Given the description of an element on the screen output the (x, y) to click on. 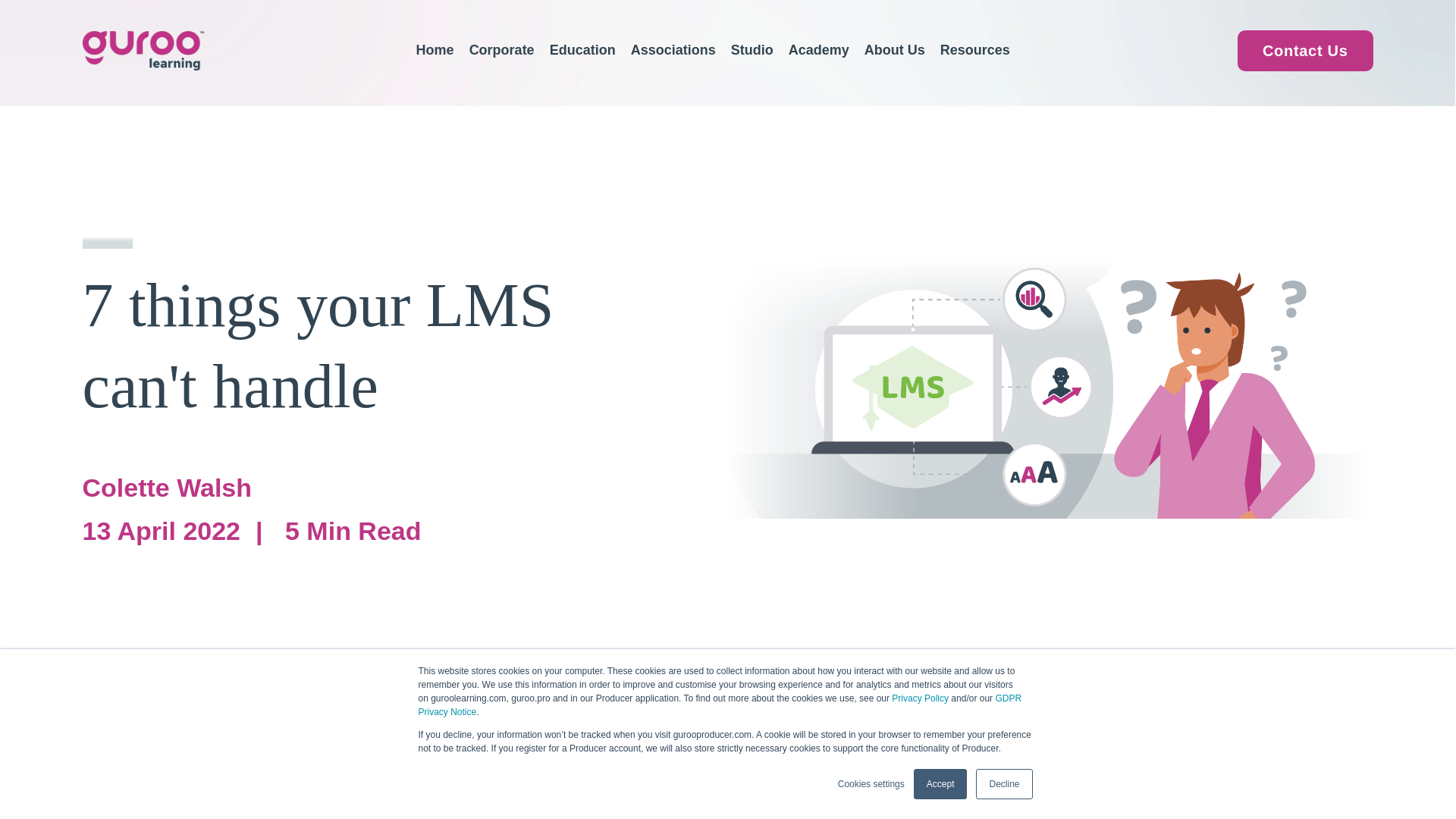
Cookies settings (871, 784)
Colette Walsh (166, 487)
GDPR Privacy Notice (720, 704)
About Us (894, 60)
Accept (941, 784)
Academy (818, 60)
Corporate (501, 60)
Contact Us (1305, 50)
Associations (673, 60)
Resources (975, 60)
